Given the description of an element on the screen output the (x, y) to click on. 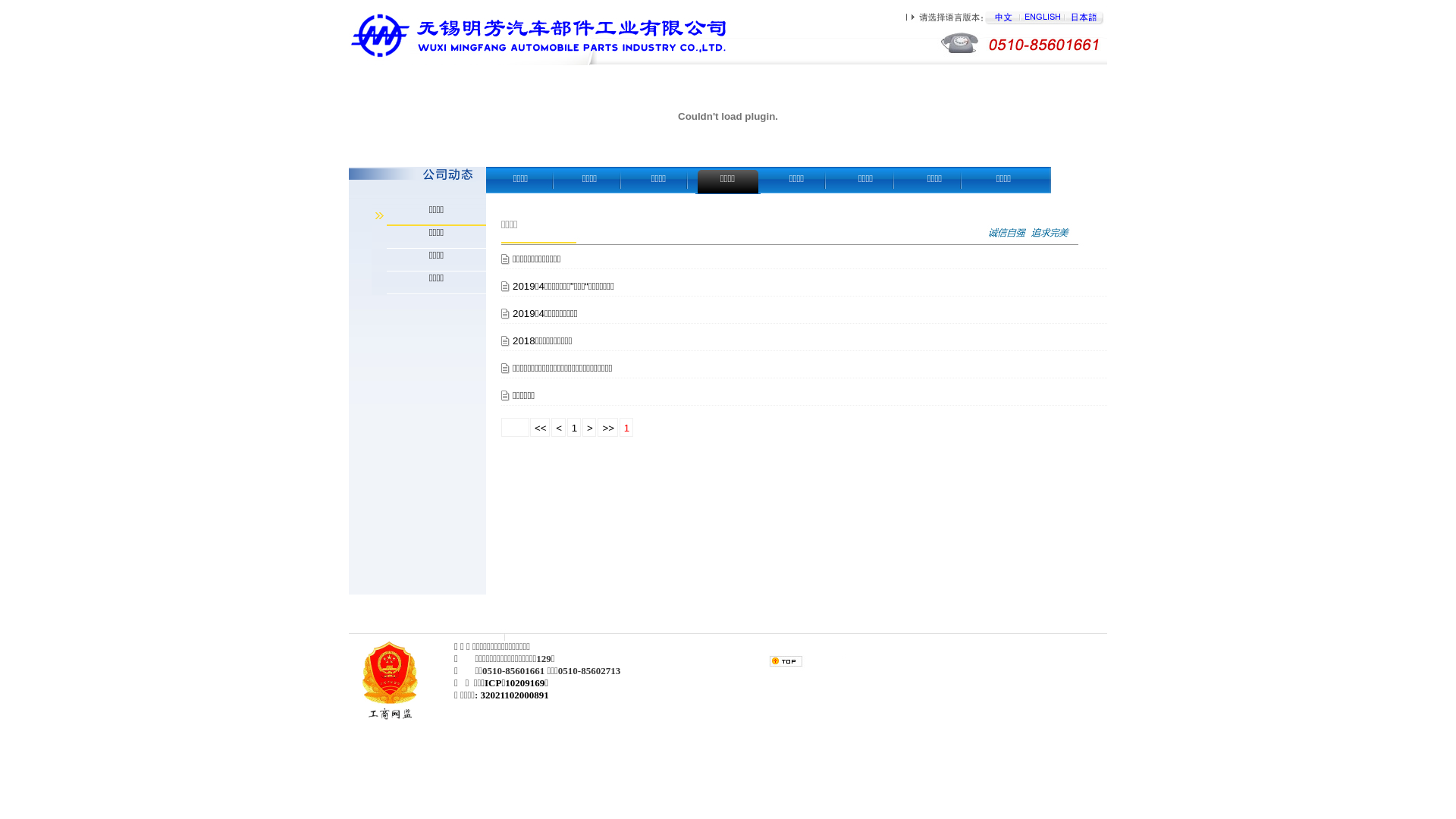
>>  Element type: text (607, 426)
<<  Element type: text (539, 426)
<  Element type: text (558, 426)
>  Element type: text (589, 426)
32021102000891 Element type: text (514, 694)
